Given the description of an element on the screen output the (x, y) to click on. 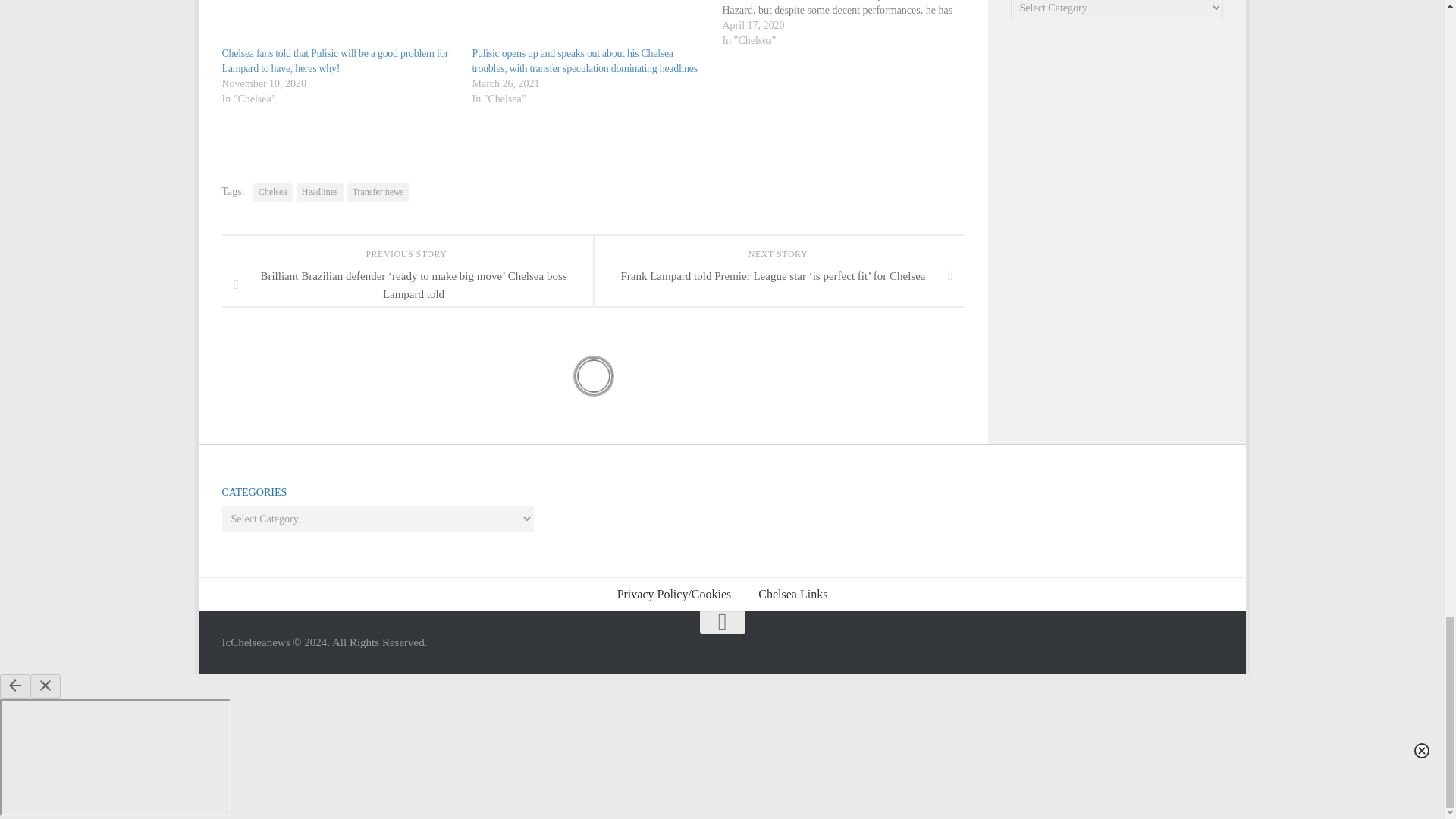
Transfer news (378, 192)
Chelsea (272, 192)
Headlines (320, 192)
